Given the description of an element on the screen output the (x, y) to click on. 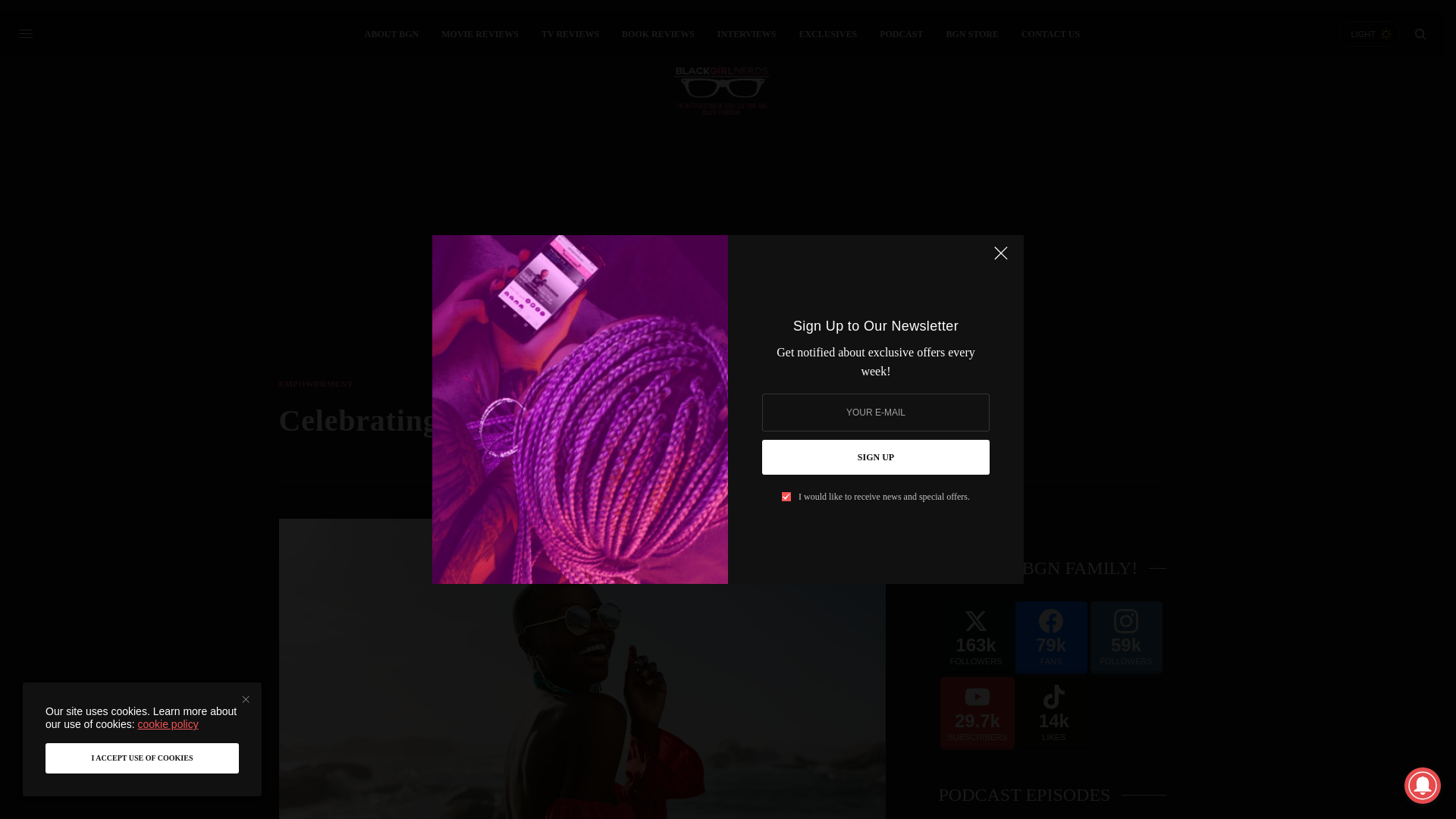
SIGN UP (875, 457)
ABOUT BGN (392, 33)
CONTACT US (1051, 33)
EXCLUSIVES (827, 33)
BGN STORE (970, 33)
PODCAST (901, 33)
INTERVIEWS (746, 33)
EMPOWERMENT (316, 384)
MOVIE REVIEWS (479, 33)
TV REVIEWS (569, 33)
Black Girl Nerds (721, 91)
BOOK REVIEWS (657, 33)
